Given the description of an element on the screen output the (x, y) to click on. 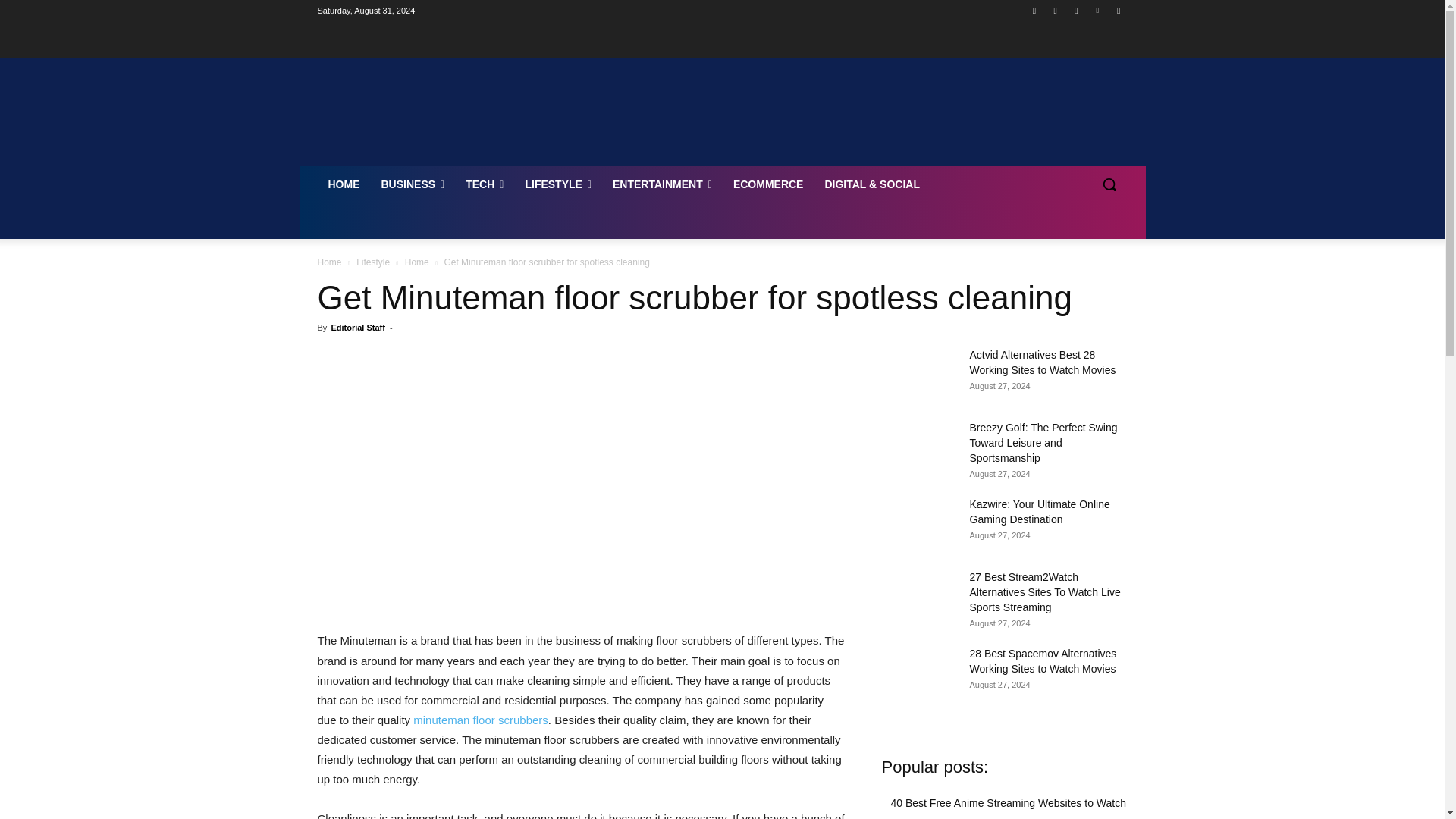
Instagram (1055, 9)
Vimeo (1097, 9)
Youtube (1117, 9)
Twitter (1075, 9)
View all posts in Home (416, 262)
Facebook (1034, 9)
View all posts in Lifestyle (373, 262)
